Given the description of an element on the screen output the (x, y) to click on. 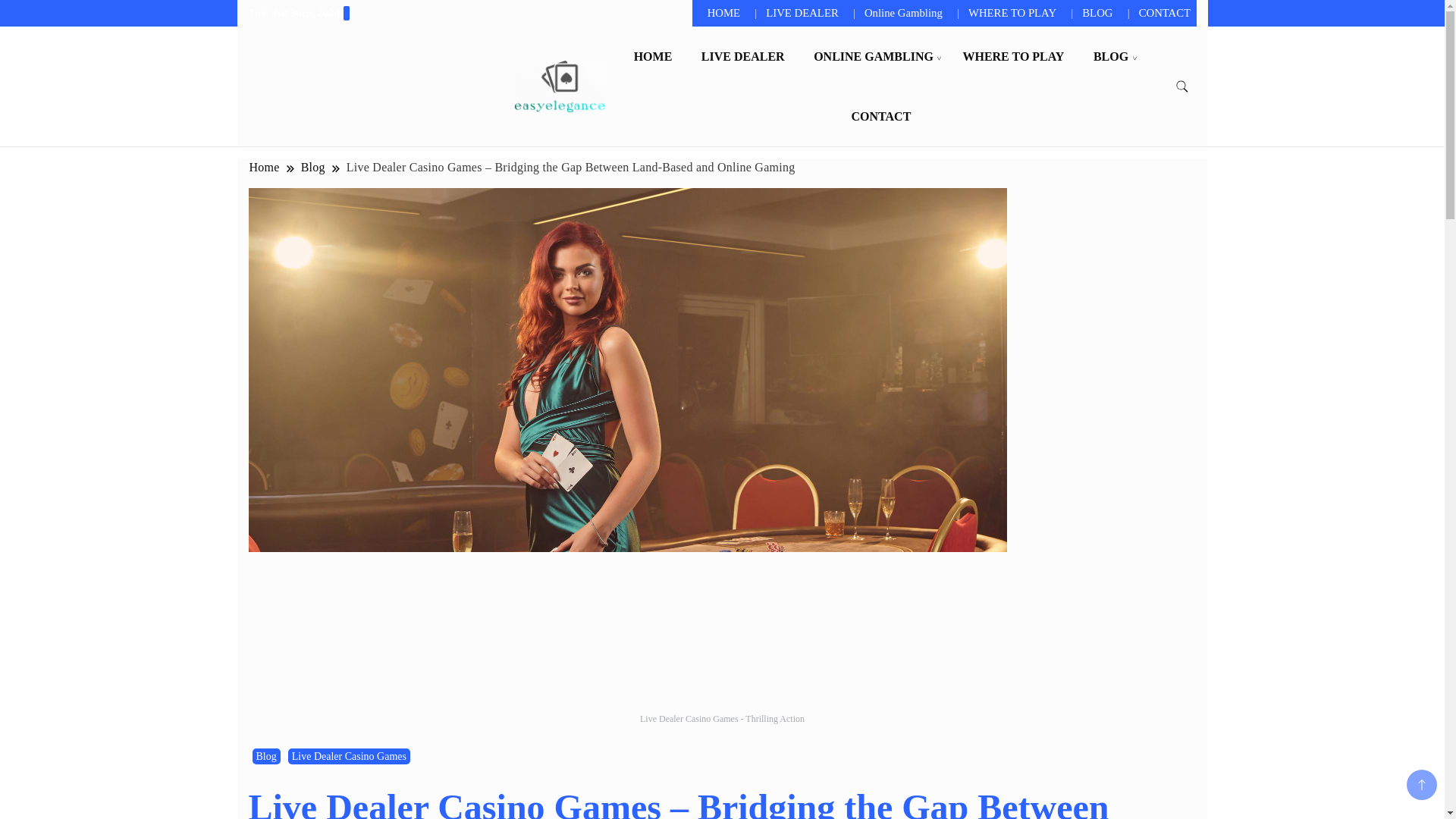
HOME (653, 56)
BLOG (1110, 56)
CONTACT (880, 116)
LIVE DEALER (742, 56)
CONTACT (1164, 12)
ONLINE GAMBLING (873, 56)
LIVE DEALER (801, 12)
Online Gambling (903, 12)
Easy Elegance (670, 103)
WHERE TO PLAY (1012, 12)
BLOG (1096, 12)
WHERE TO PLAY (1013, 56)
HOME (723, 12)
